Given the description of an element on the screen output the (x, y) to click on. 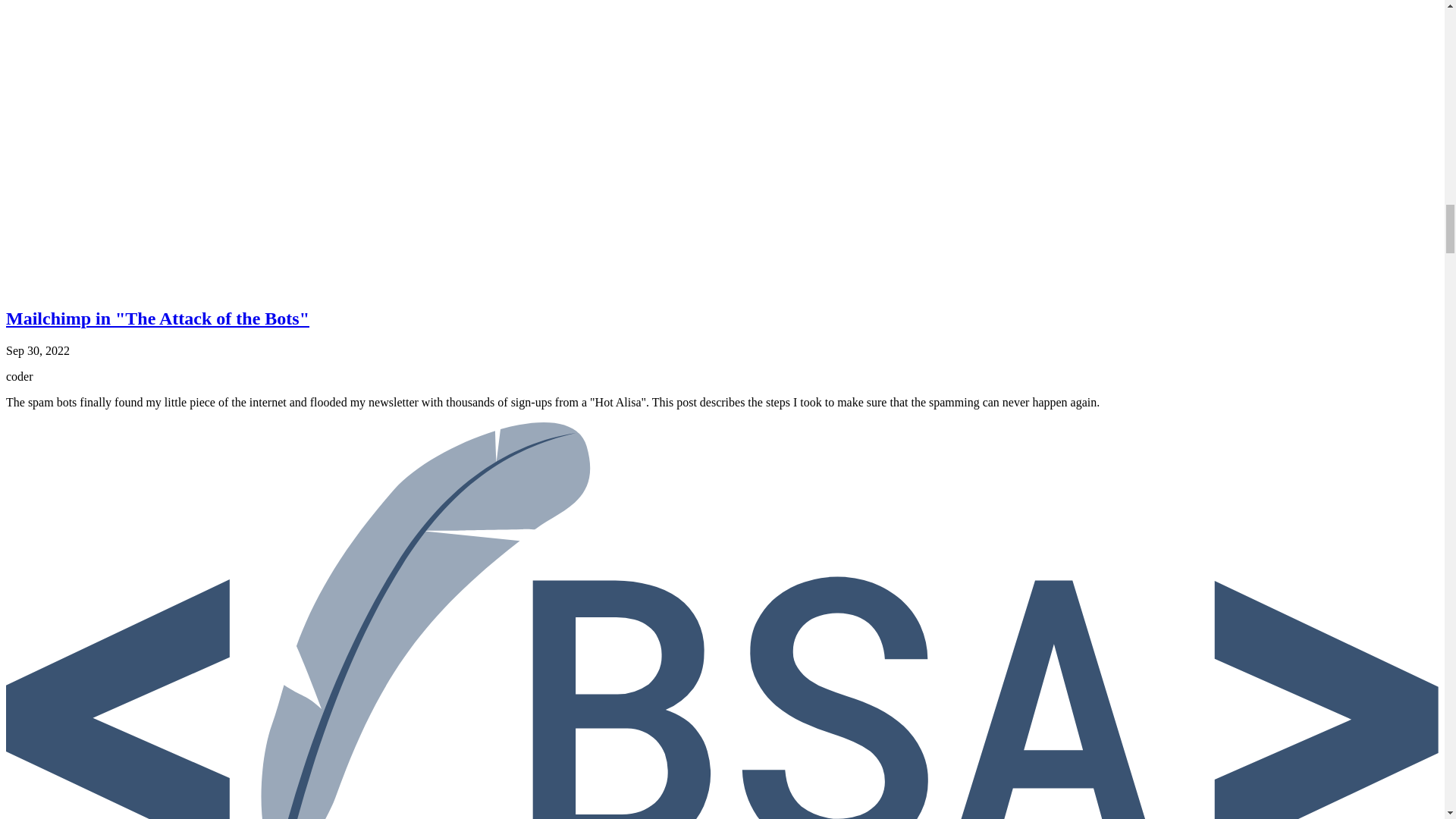
Mailchimp in "The Attack of the Bots" (156, 318)
